Given the description of an element on the screen output the (x, y) to click on. 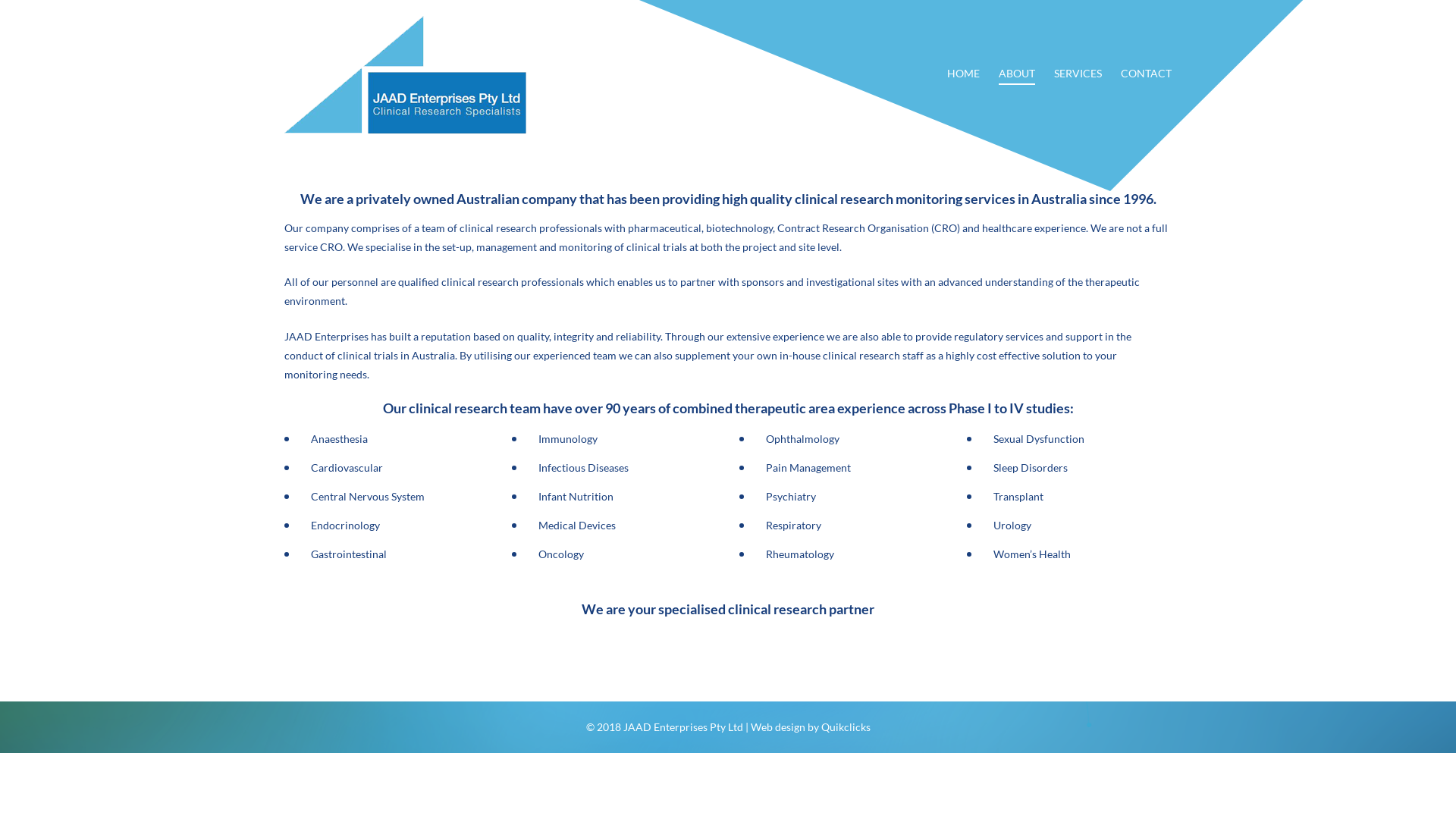
HOME Element type: text (963, 72)
CONTACT Element type: text (1145, 72)
Quikclicks Element type: text (844, 726)
ABOUT Element type: text (1016, 72)
SERVICES Element type: text (1077, 72)
